Given the description of an element on the screen output the (x, y) to click on. 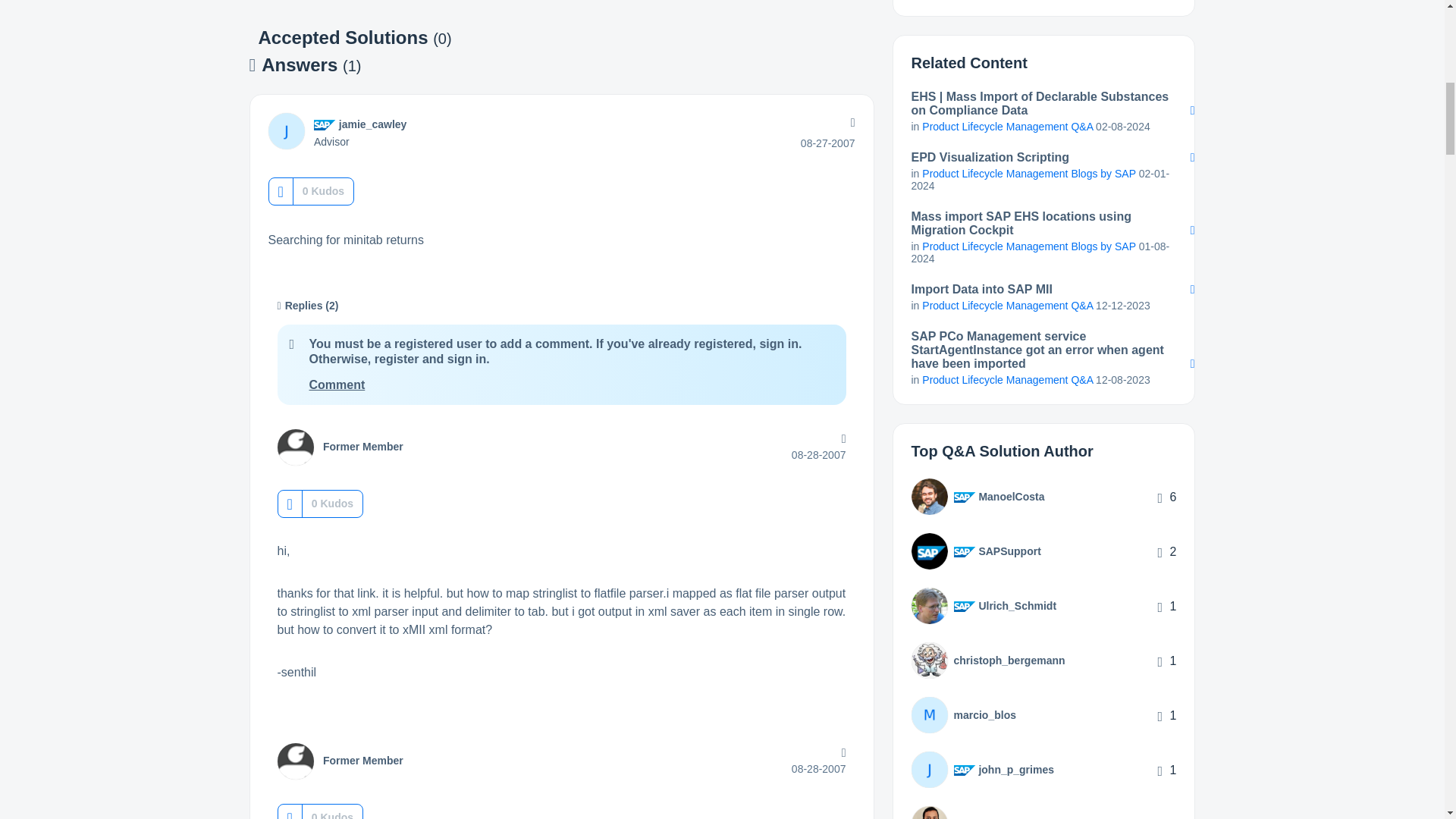
Comment (336, 384)
Advisor (325, 124)
